Given the description of an element on the screen output the (x, y) to click on. 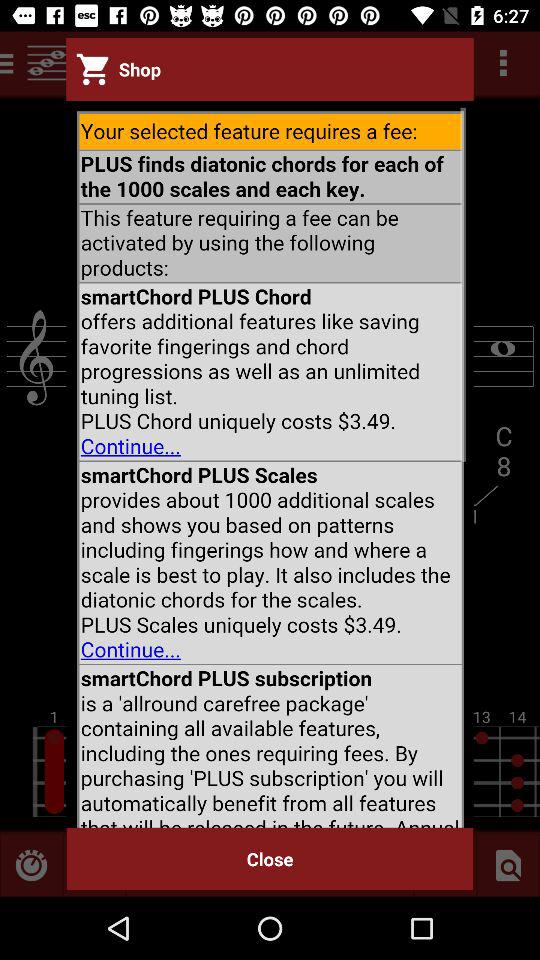
scroll page (269, 463)
